Given the description of an element on the screen output the (x, y) to click on. 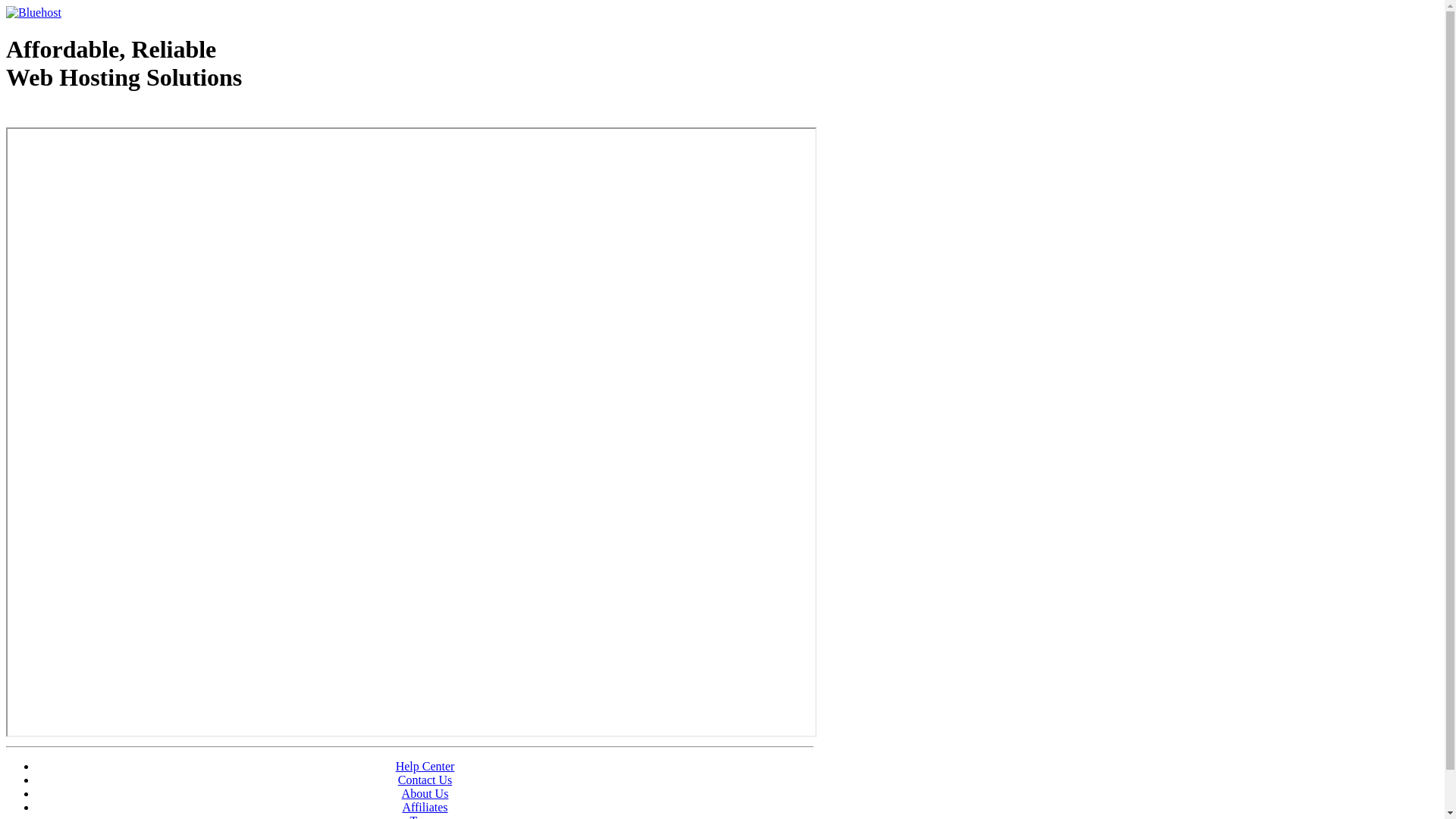
Help Center Element type: text (425, 765)
About Us Element type: text (424, 793)
Web Hosting - courtesy of www.bluehost.com Element type: text (94, 115)
Contact Us Element type: text (425, 779)
Affiliates Element type: text (424, 806)
